Given the description of an element on the screen output the (x, y) to click on. 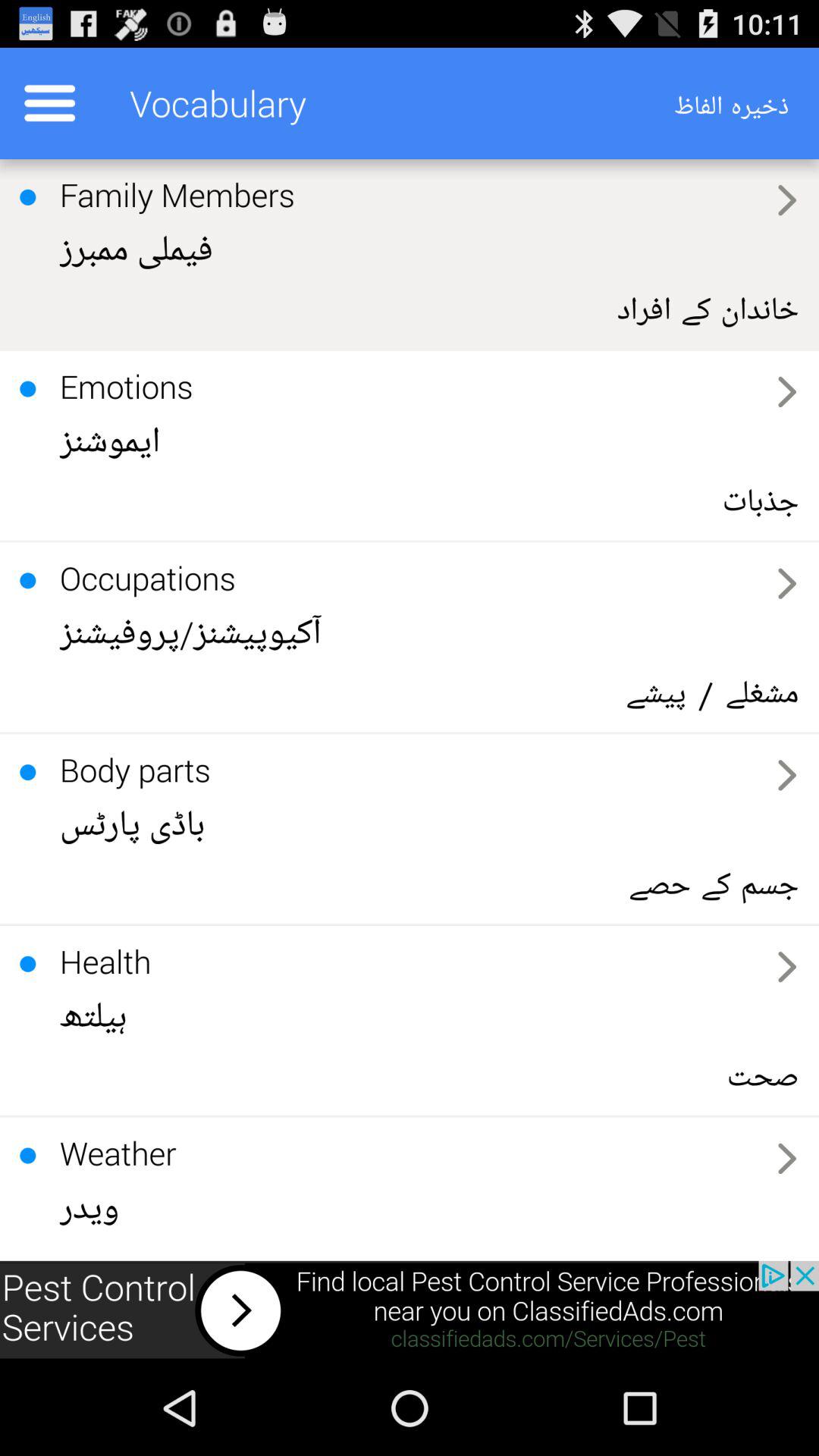
sponsored content (409, 1310)
